Given the description of an element on the screen output the (x, y) to click on. 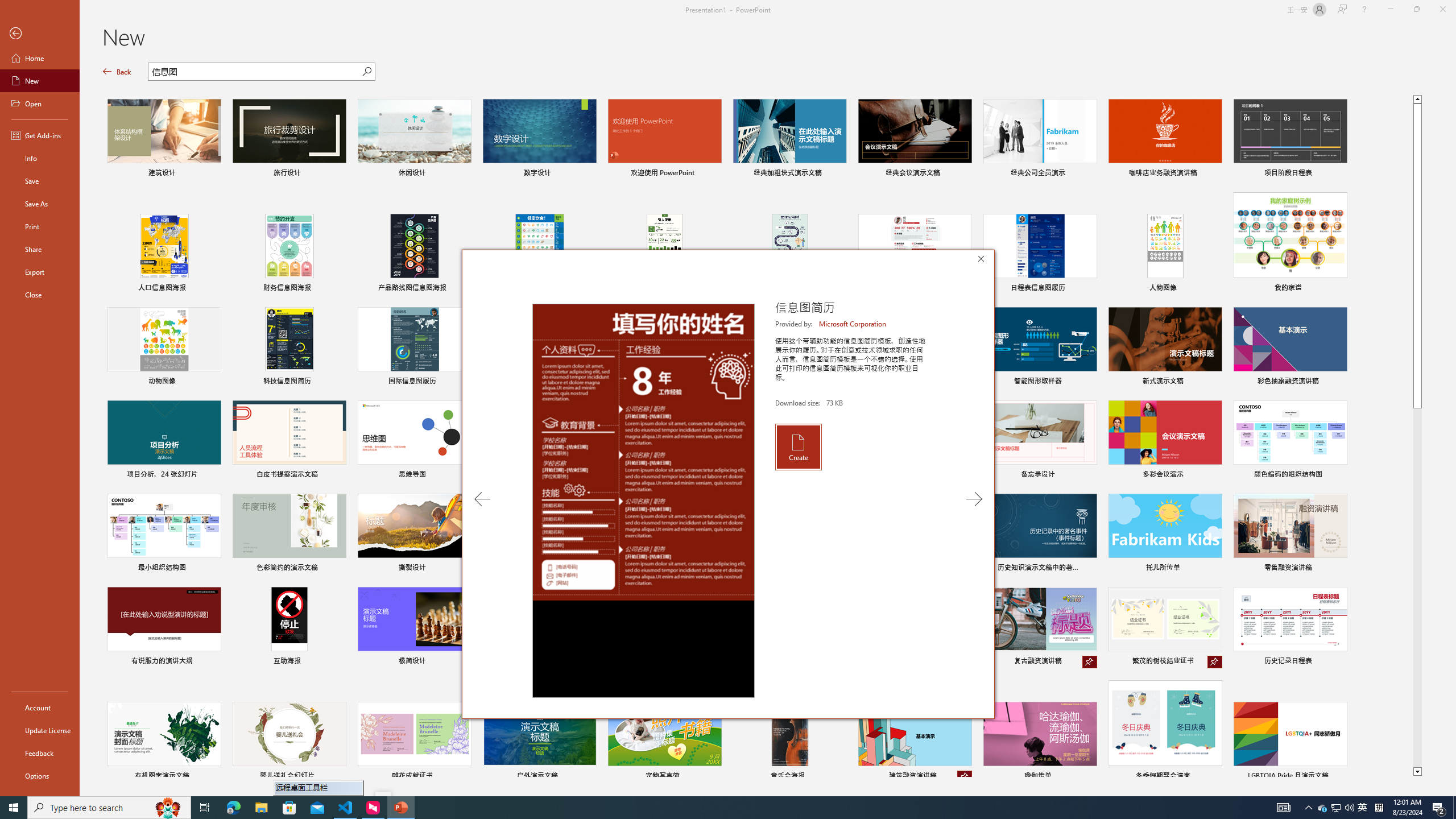
Back (117, 71)
Search for online templates and themes (254, 73)
Microsoft Store (289, 807)
Visual Studio Code - 1 running window (345, 807)
Start searching (366, 71)
Action Center, 2 new notifications (1439, 807)
